Given the description of an element on the screen output the (x, y) to click on. 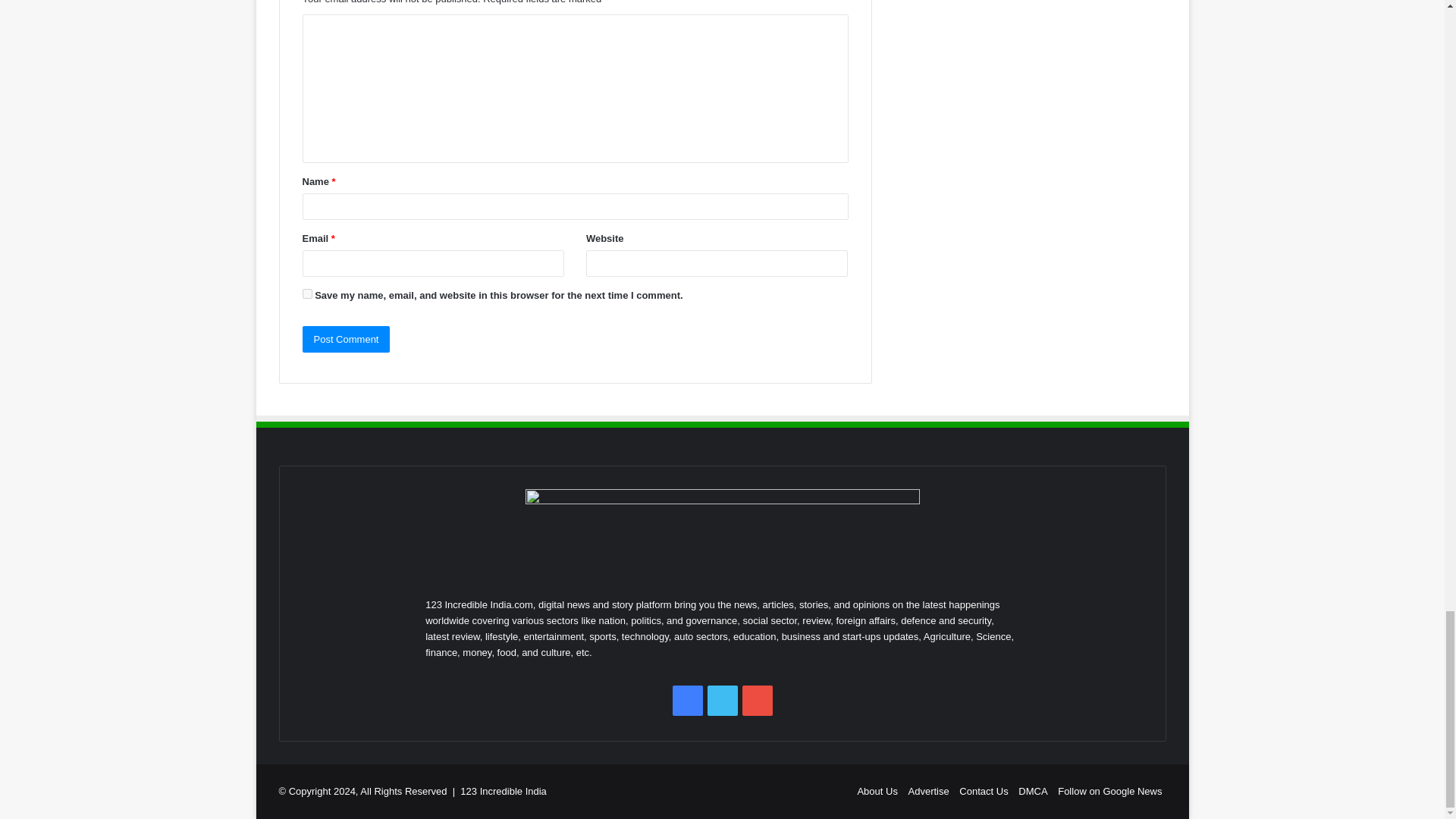
Post Comment (345, 338)
yes (306, 293)
